Given the description of an element on the screen output the (x, y) to click on. 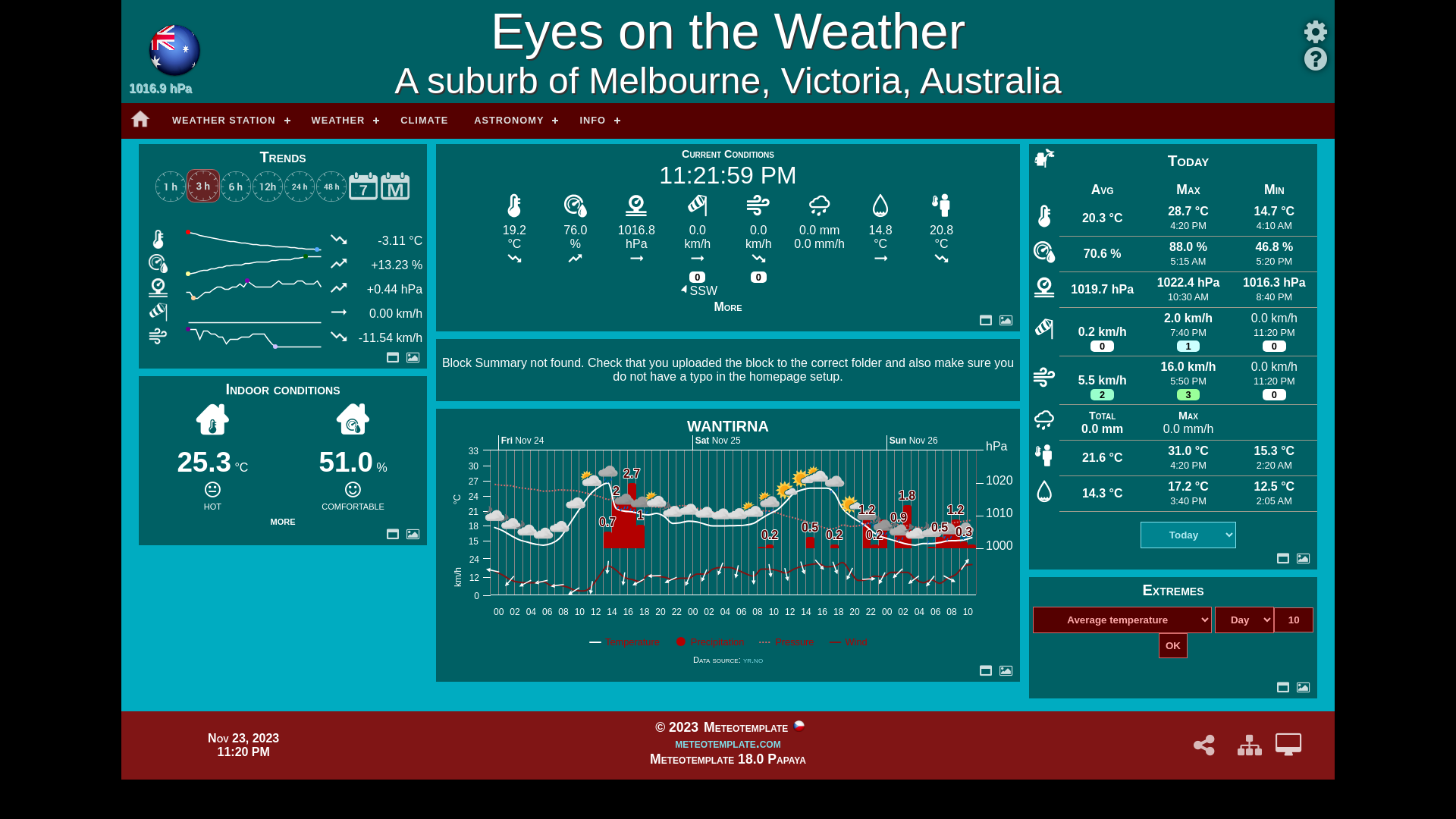
yr.no Element type: text (752, 659)
WEATHER Element type: text (343, 120)
More Element type: text (727, 306)
CLIMATE Element type: text (424, 120)
INFO Element type: text (597, 120)
more Element type: text (281, 520)
ASTRONOMY Element type: text (513, 120)
meteotemplate.com Element type: text (727, 742)
WEATHER STATION Element type: text (228, 120)
